Given the description of an element on the screen output the (x, y) to click on. 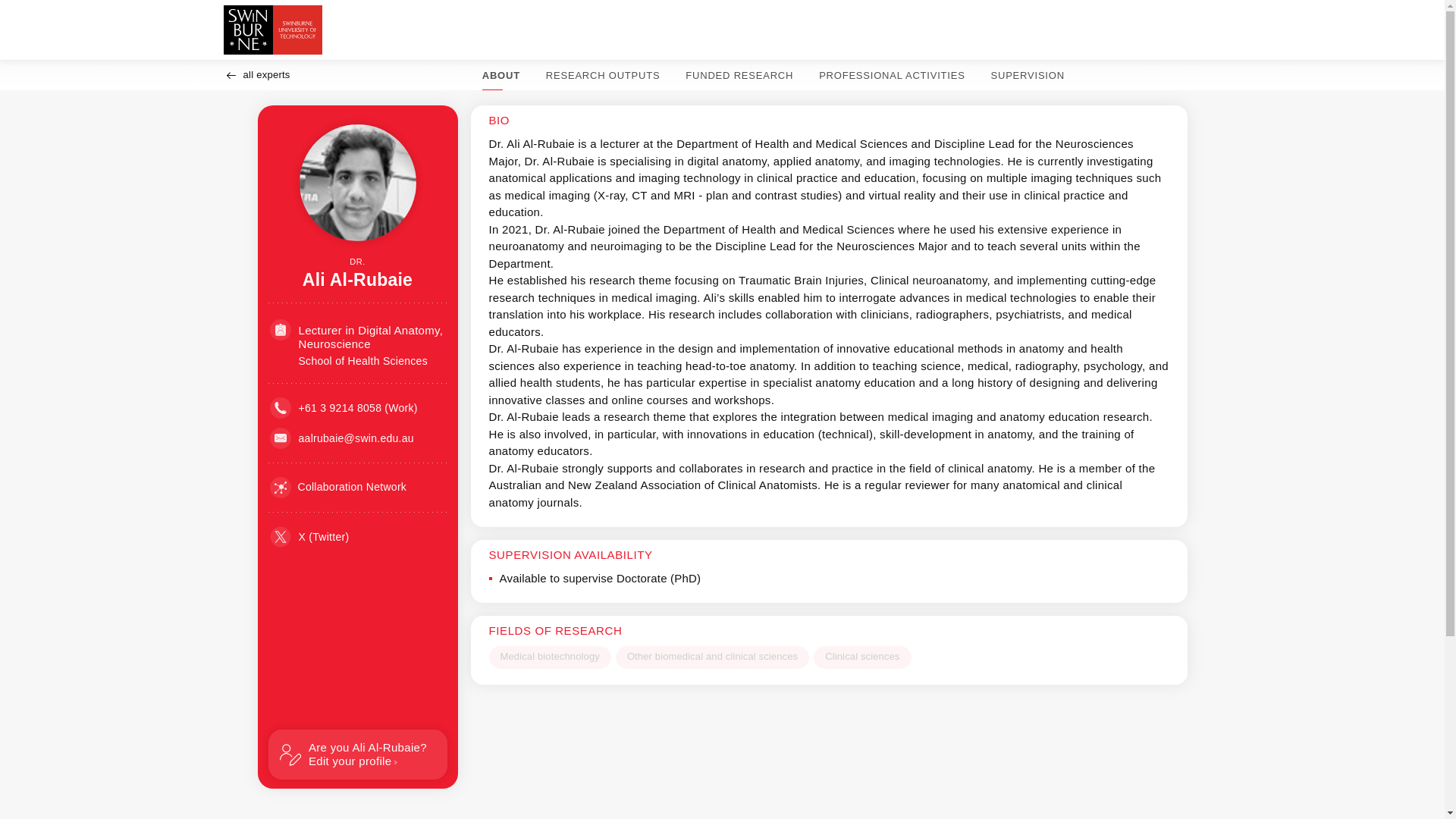
PROFESSIONAL ACTIVITIES (892, 75)
Medical biotechnology (548, 657)
Clinical sciences (356, 754)
all experts (862, 657)
SUPERVISION (255, 74)
Other biomedical and clinical sciences (1027, 75)
Collaboration Network (712, 657)
RESEARCH OUTPUTS (338, 486)
FUNDED RESEARCH (602, 75)
